Given the description of an element on the screen output the (x, y) to click on. 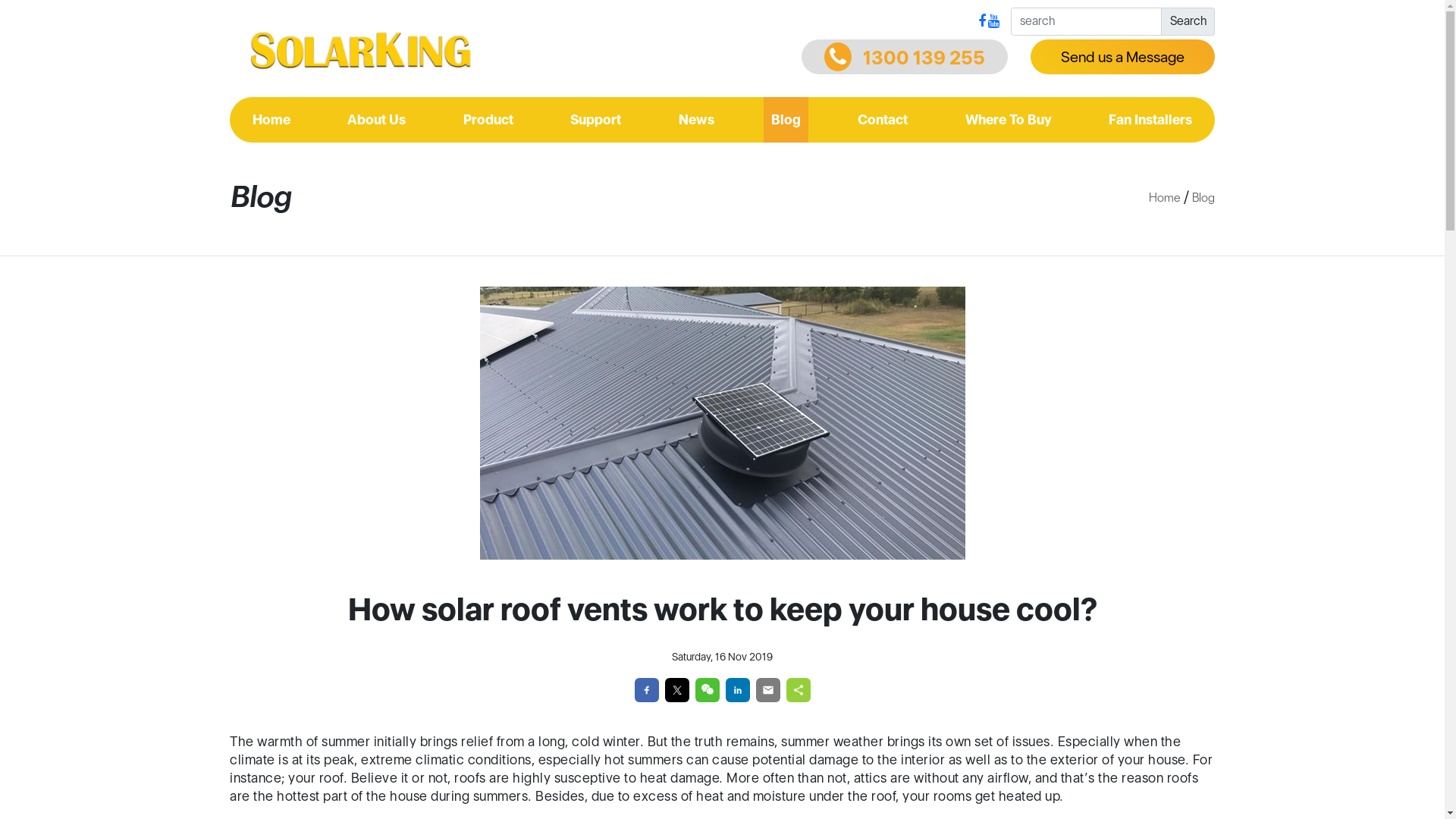
Home Element type: text (1164, 196)
Blog Element type: text (1203, 196)
Blog Element type: text (785, 119)
Send us a Message Element type: text (1122, 56)
Contact Element type: text (882, 119)
Fan Installers Element type: text (1150, 119)
1300 139 255 Element type: text (904, 56)
Where To Buy Element type: text (1008, 119)
Home Element type: text (271, 119)
Support Element type: text (595, 119)
News Element type: text (695, 119)
Product Element type: text (487, 119)
Search Element type: text (1187, 21)
About Us Element type: text (376, 119)
